Given the description of an element on the screen output the (x, y) to click on. 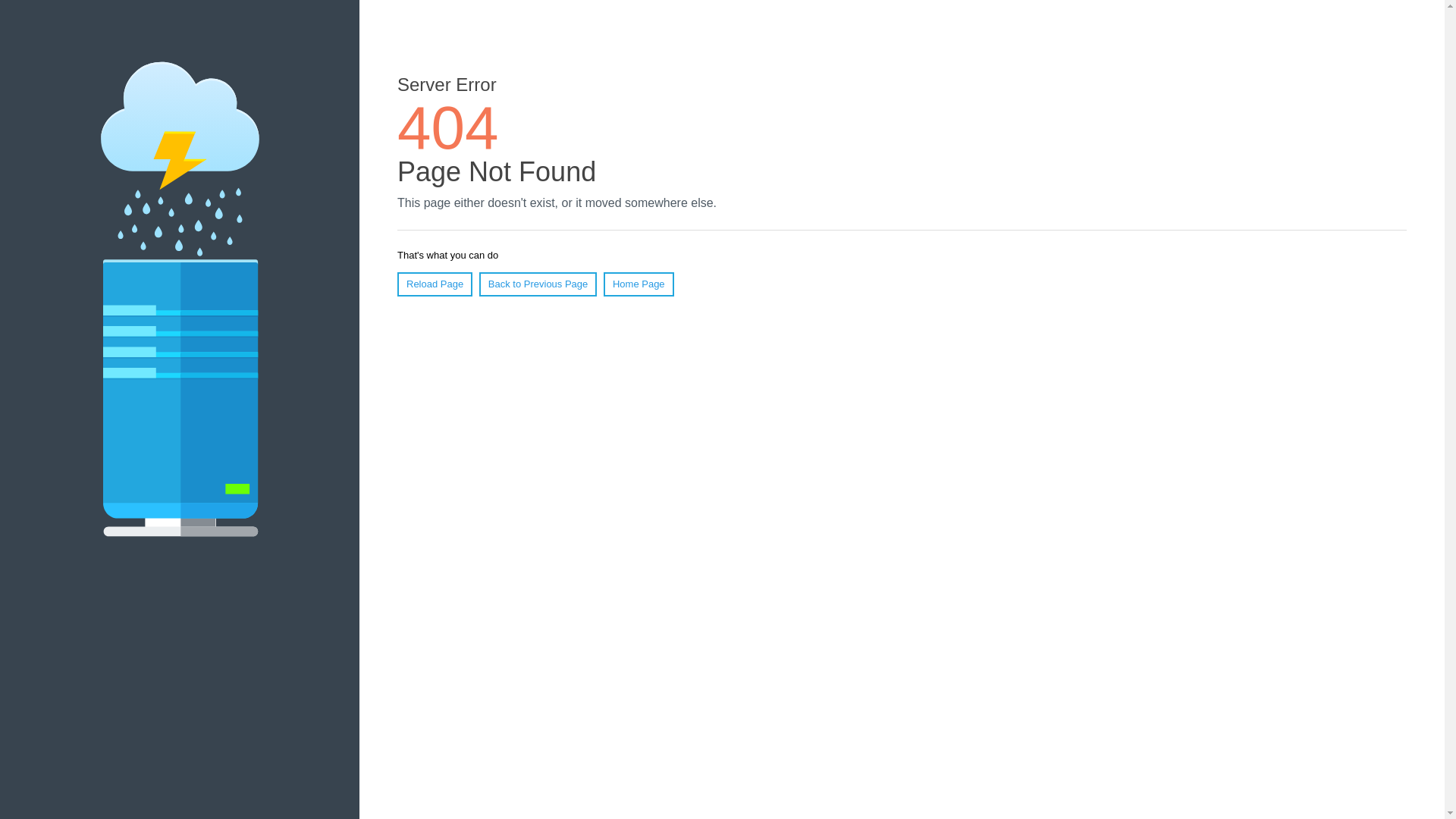
Reload Page Element type: text (434, 284)
Back to Previous Page Element type: text (538, 284)
Home Page Element type: text (638, 284)
